Given the description of an element on the screen output the (x, y) to click on. 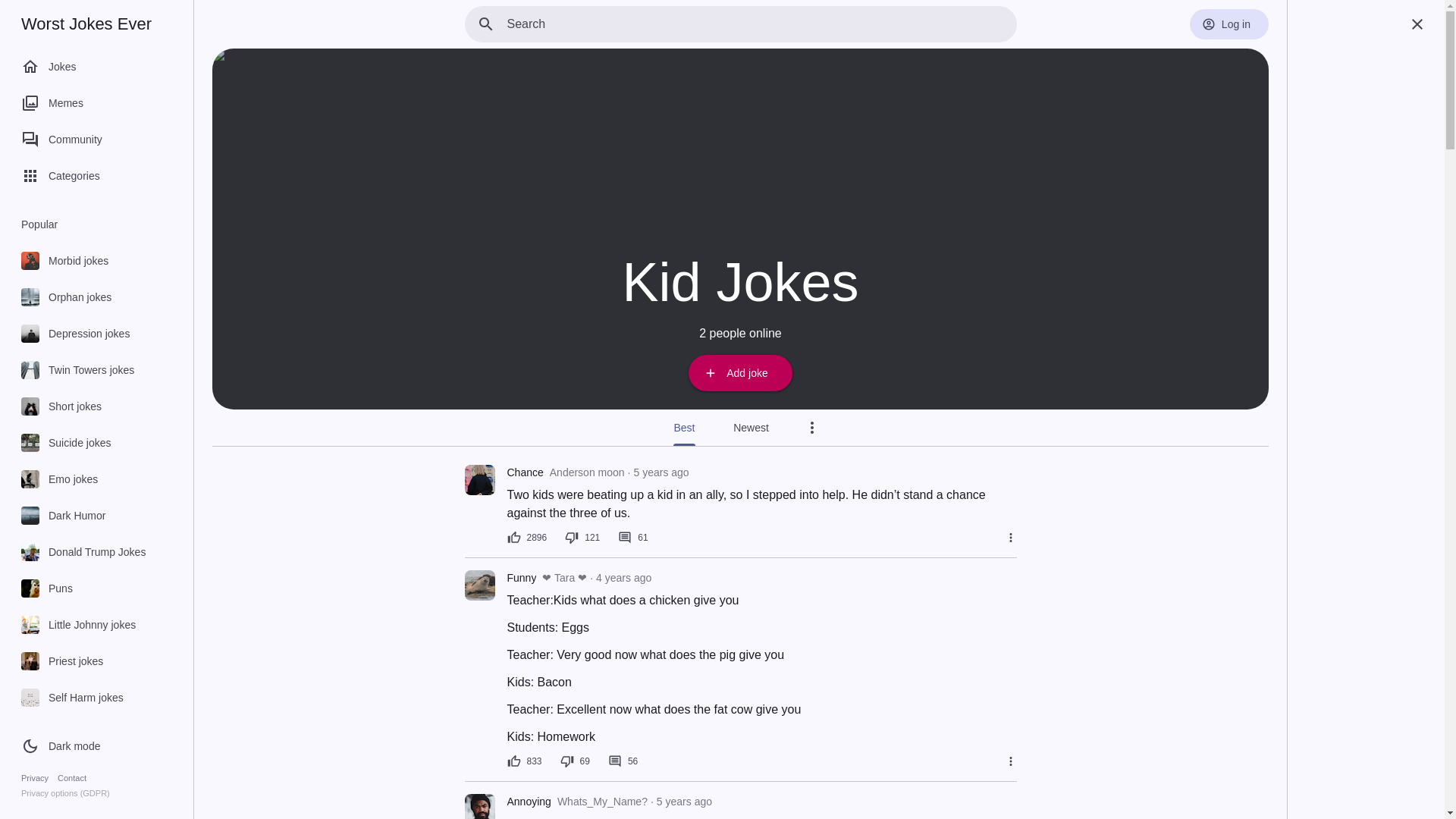
Categories (93, 176)
Dark mode (62, 746)
Worst Jokes Ever (86, 23)
Puns (93, 588)
Memes (93, 103)
Suicide jokes (93, 443)
Emo jokes (93, 479)
Difference jokes (93, 770)
Community (93, 139)
Offensive jokes (93, 803)
